Given the description of an element on the screen output the (x, y) to click on. 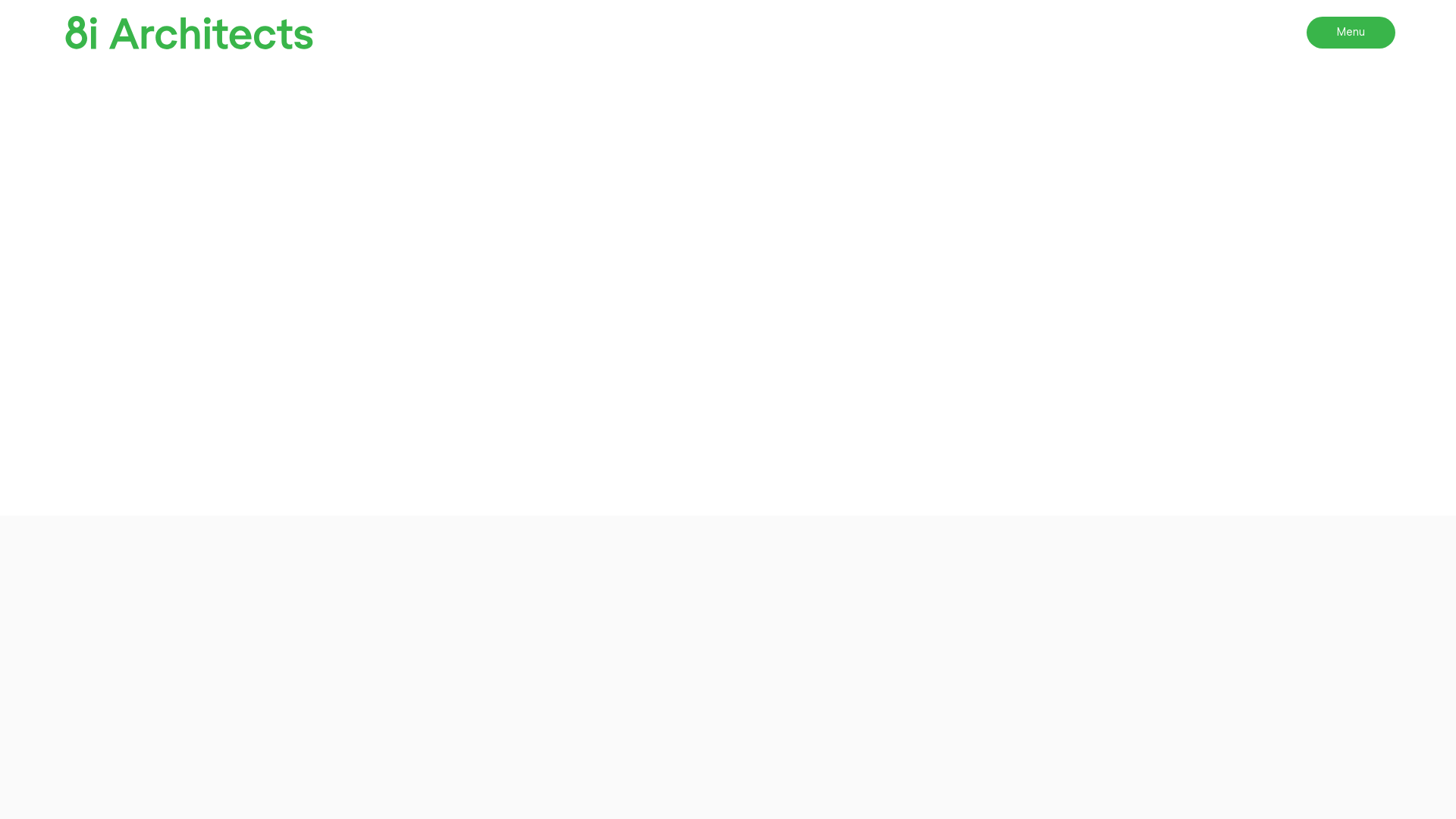
Menu Element type: text (1350, 32)
Skip to content Element type: text (0, 0)
